Given the description of an element on the screen output the (x, y) to click on. 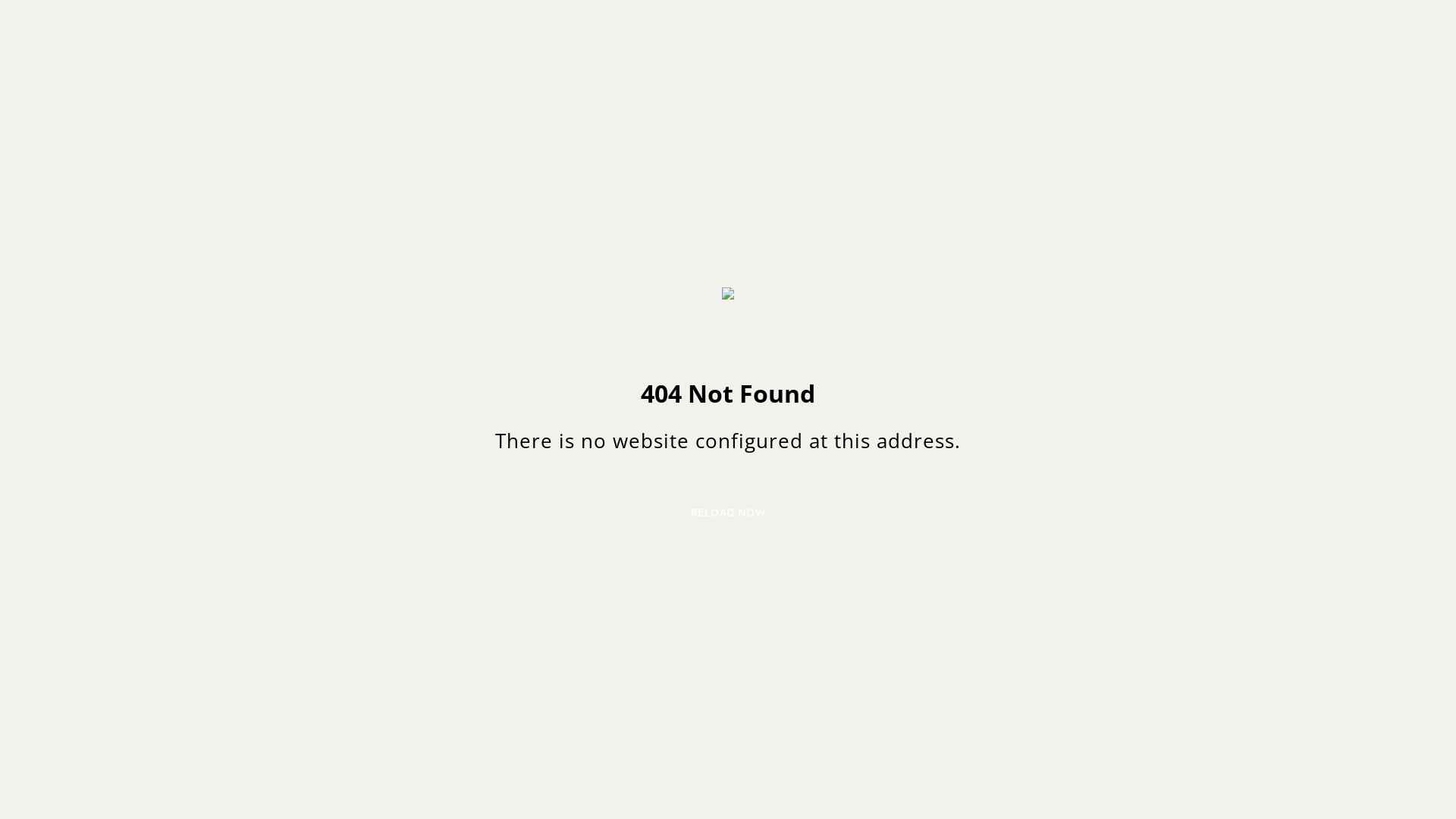
RELOAD NOW Element type: text (728, 512)
